Given the description of an element on the screen output the (x, y) to click on. 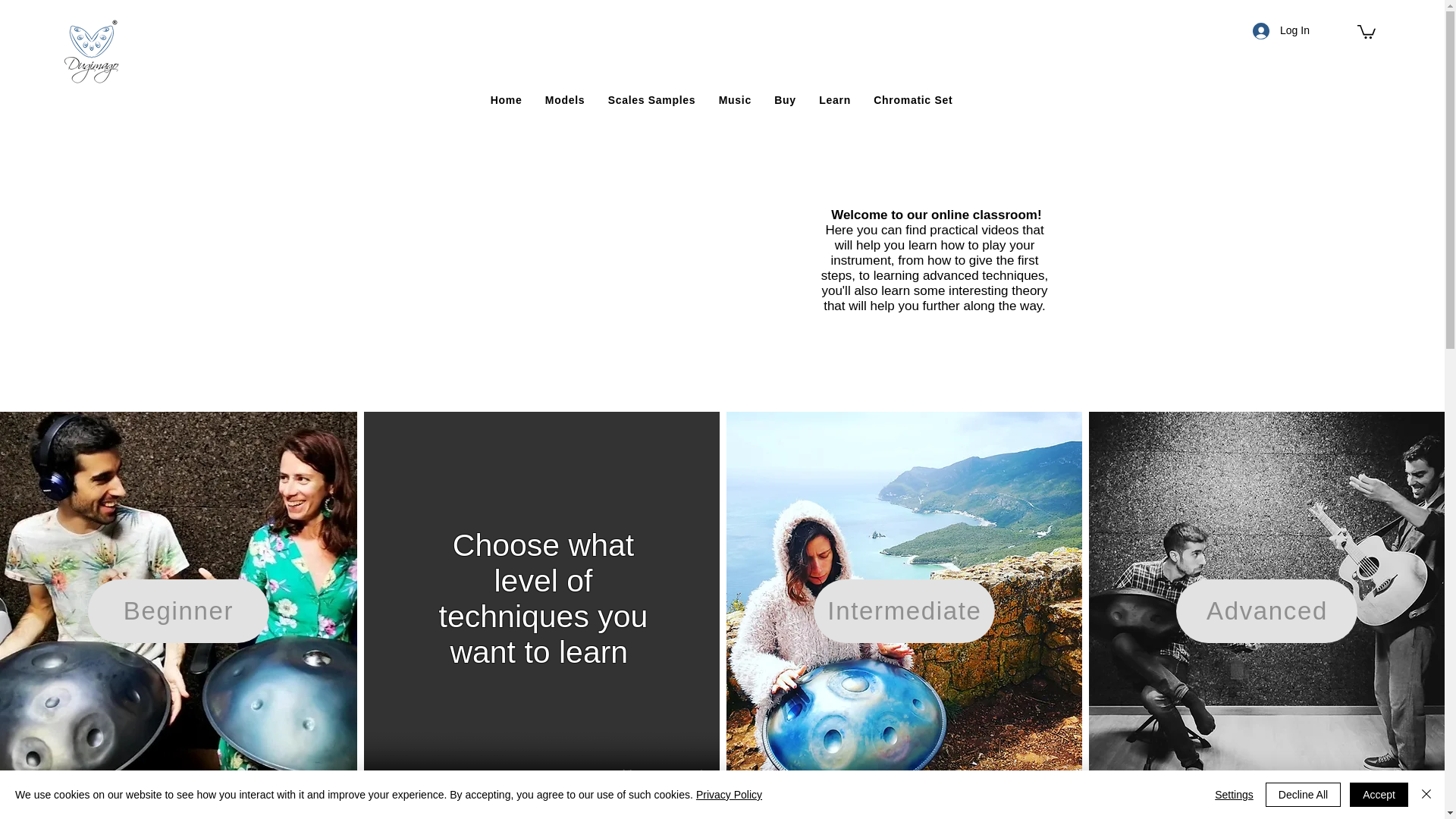
Music (735, 99)
Beginner (178, 610)
Decline All (1302, 794)
Privacy Policy (728, 794)
Chromatic Set (912, 99)
Log In (1275, 30)
Home (506, 99)
Advanced (1266, 610)
Intermediate (903, 610)
Accept (1378, 794)
